Given the description of an element on the screen output the (x, y) to click on. 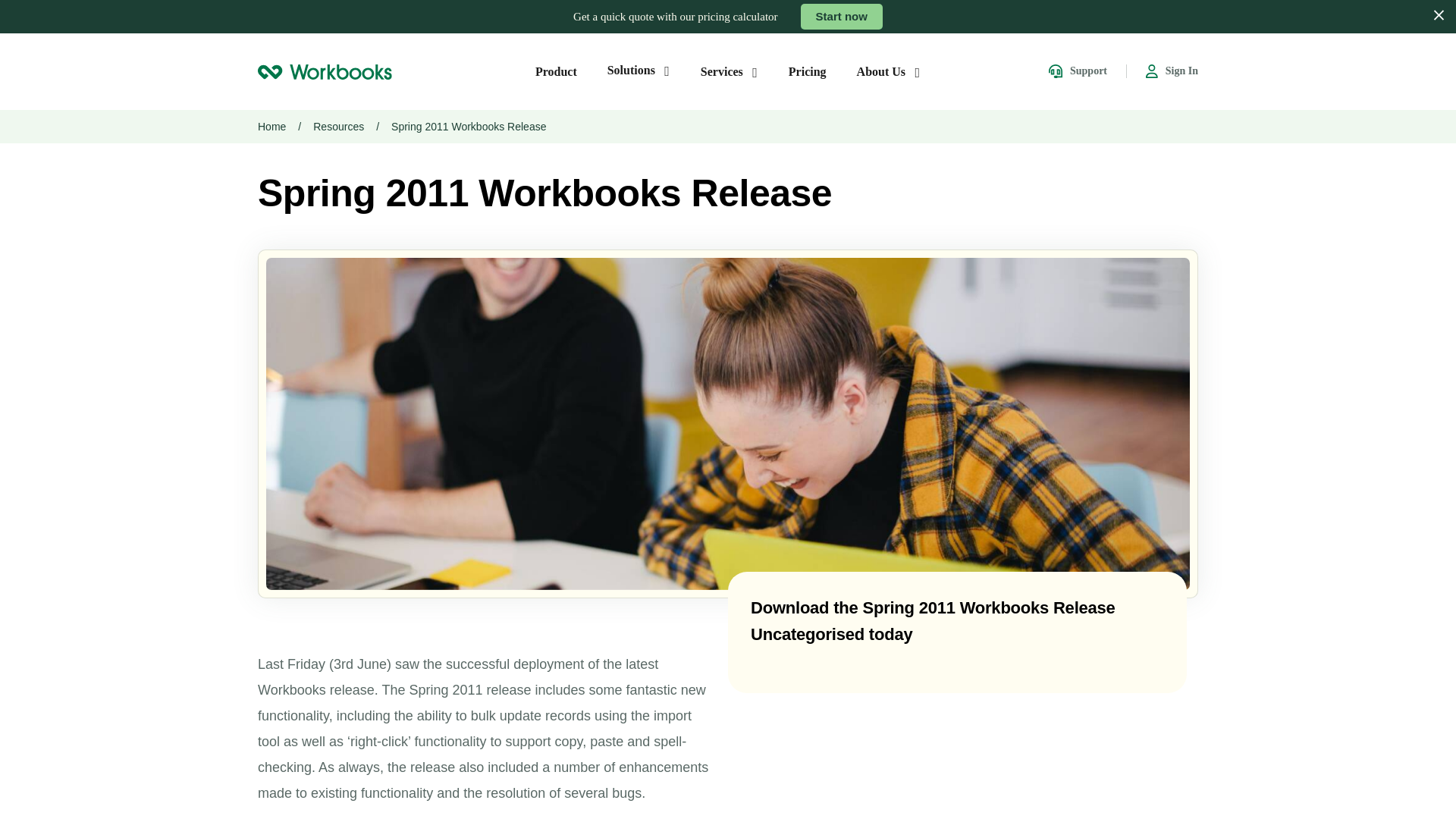
Sign In (1171, 70)
About Us (888, 71)
Services (729, 71)
Solutions (638, 69)
Support (1077, 70)
Pricing (808, 71)
Product (555, 71)
Start now (841, 16)
